Given the description of an element on the screen output the (x, y) to click on. 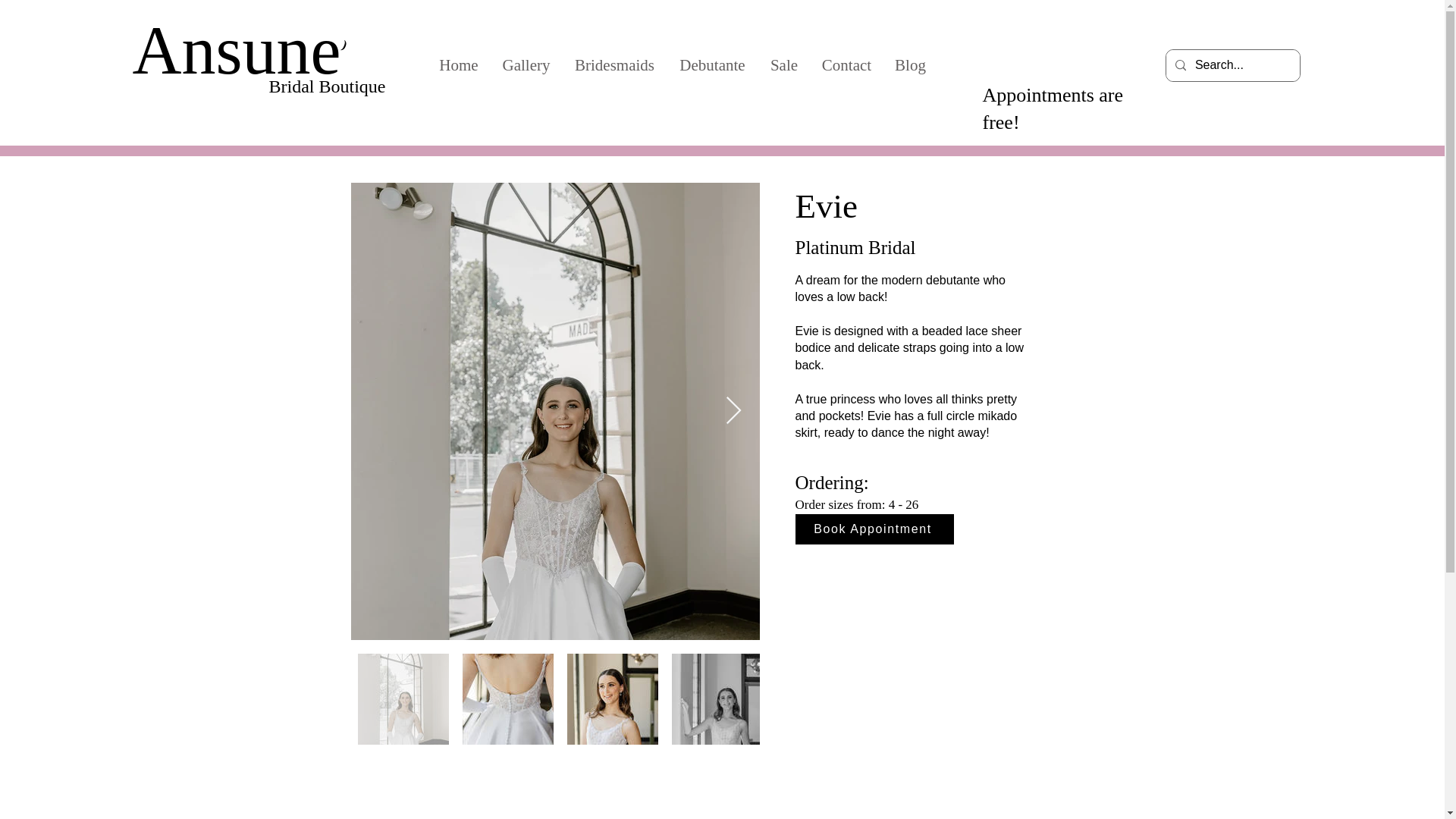
Sale (783, 65)
Debutante (712, 65)
Contact (846, 65)
Book Appointment (873, 529)
Blog (910, 65)
Home (458, 65)
Gallery (525, 65)
Bridesmaids (614, 65)
